Given the description of an element on the screen output the (x, y) to click on. 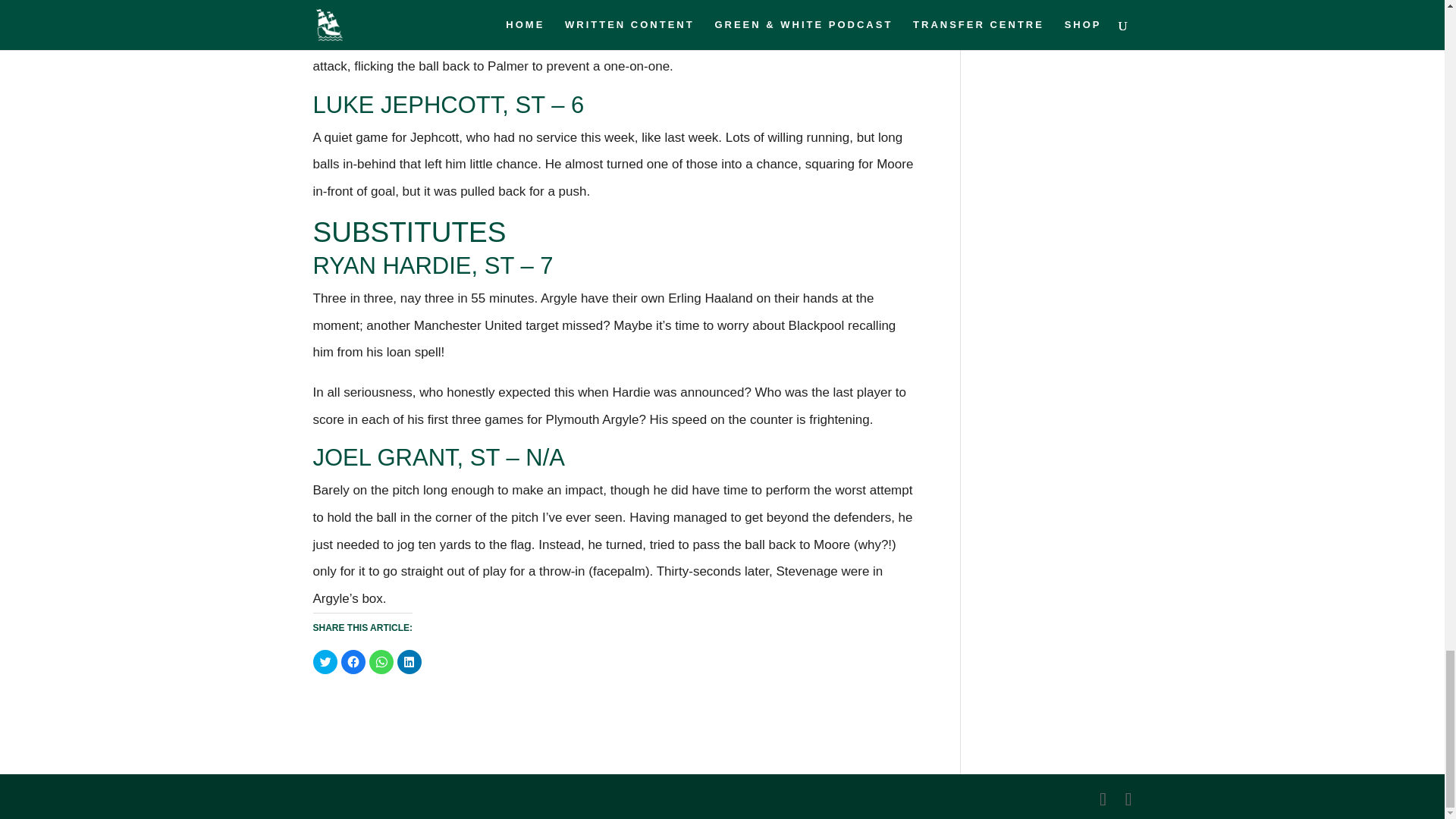
Click to share on WhatsApp (380, 662)
Click to share on LinkedIn (409, 662)
Click to share on Facebook (352, 662)
Click to share on Twitter (324, 662)
